Given the description of an element on the screen output the (x, y) to click on. 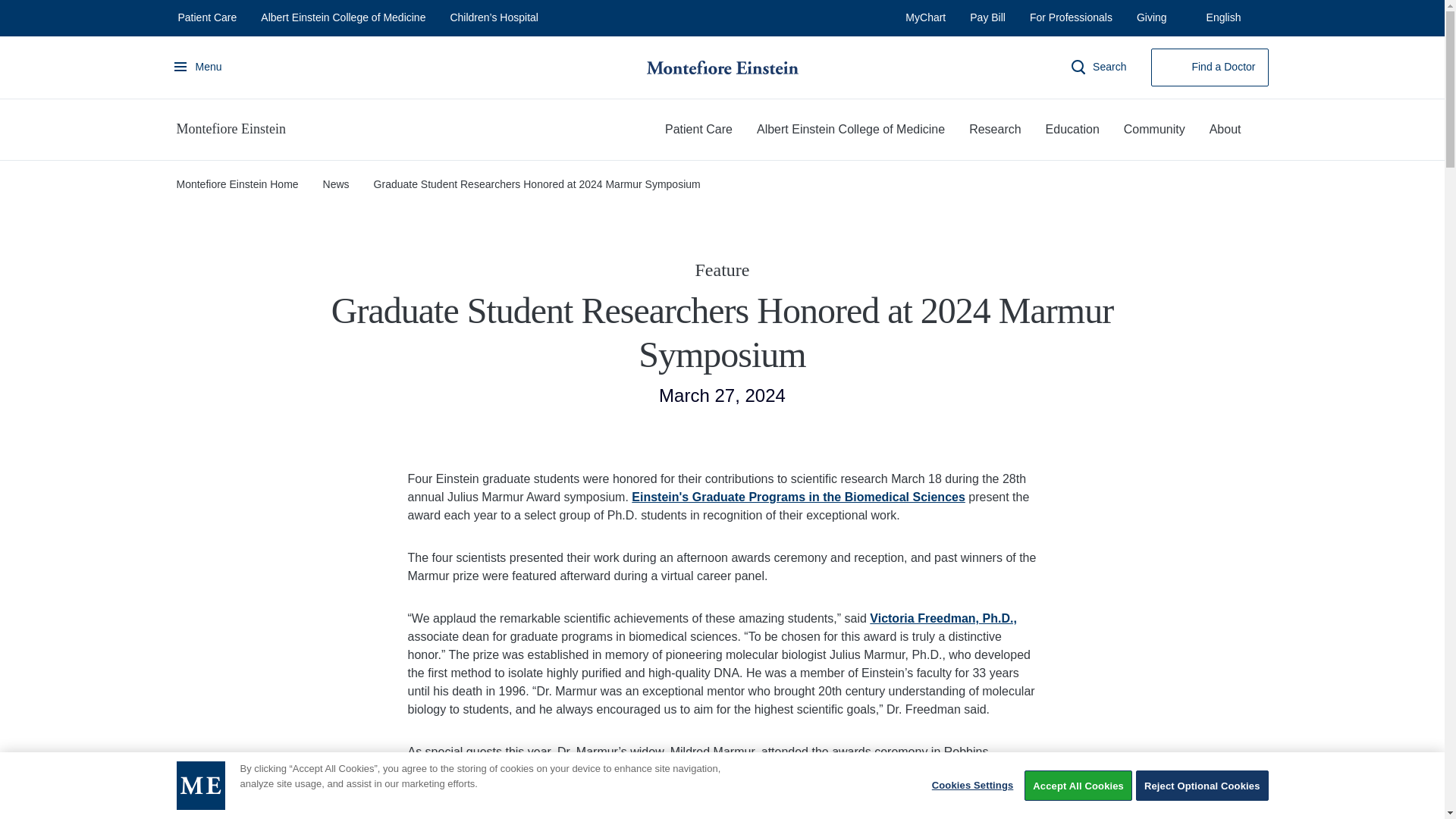
Visit the Graduate Programs in the Biomedical Sciences (798, 496)
View Victoria Freedman's faculty profile (942, 617)
Montefiore Einstein Logo (200, 785)
